Given the description of an element on the screen output the (x, y) to click on. 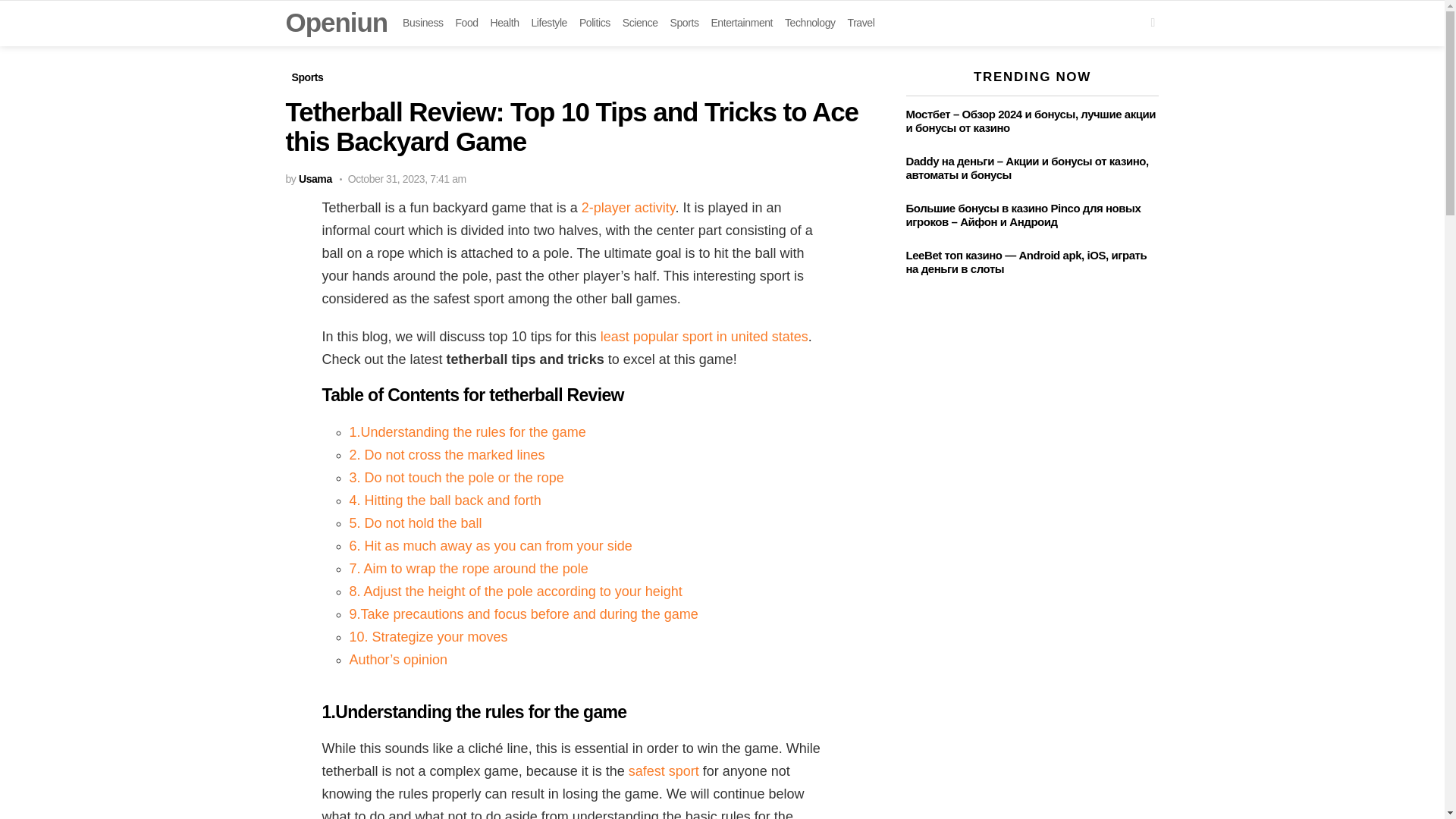
1.Understanding the rules for the game (467, 432)
2. Do not cross the marked lines (446, 454)
Entertainment (741, 22)
2-player activity (627, 207)
10. Strategize your moves (427, 636)
Posts by Usama (314, 178)
6. Hit as much away as you can from your side (490, 545)
Usama (314, 178)
8. Adjust the height of the pole according to your height (515, 590)
Openiun (336, 21)
